Given the description of an element on the screen output the (x, y) to click on. 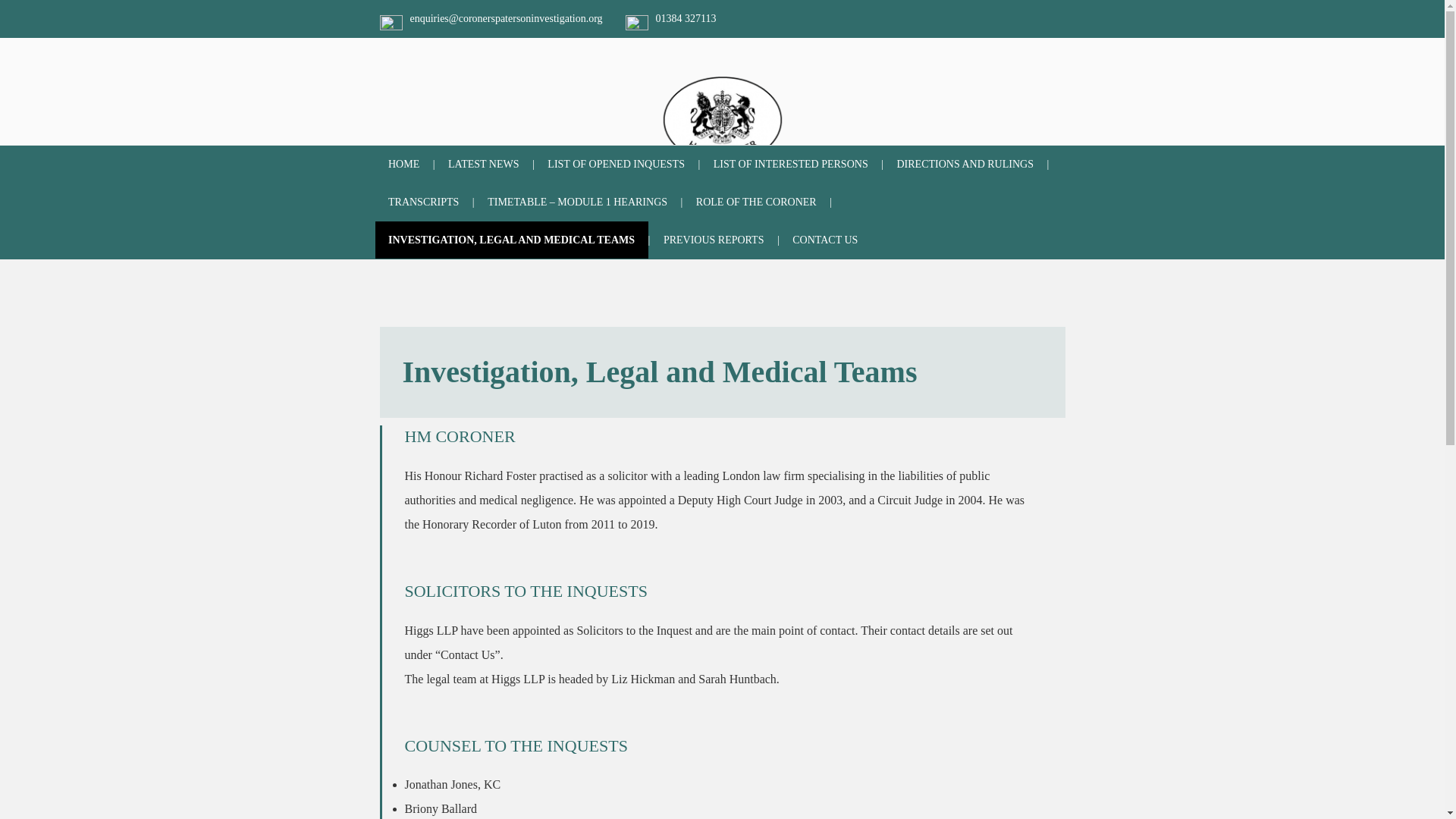
LATEST NEWS (483, 163)
DIRECTIONS AND RULINGS (964, 163)
LIST OF INTERESTED PERSONS (790, 163)
TRANSCRIPTS (422, 201)
INVESTIGATION, LEGAL AND MEDICAL TEAMS (510, 239)
01384 327113 (686, 18)
HOME (403, 163)
LIST OF OPENED INQUESTS (616, 163)
ROLE OF THE CORONER (755, 201)
CONTACT US (824, 239)
PREVIOUS REPORTS (713, 239)
